Given the description of an element on the screen output the (x, y) to click on. 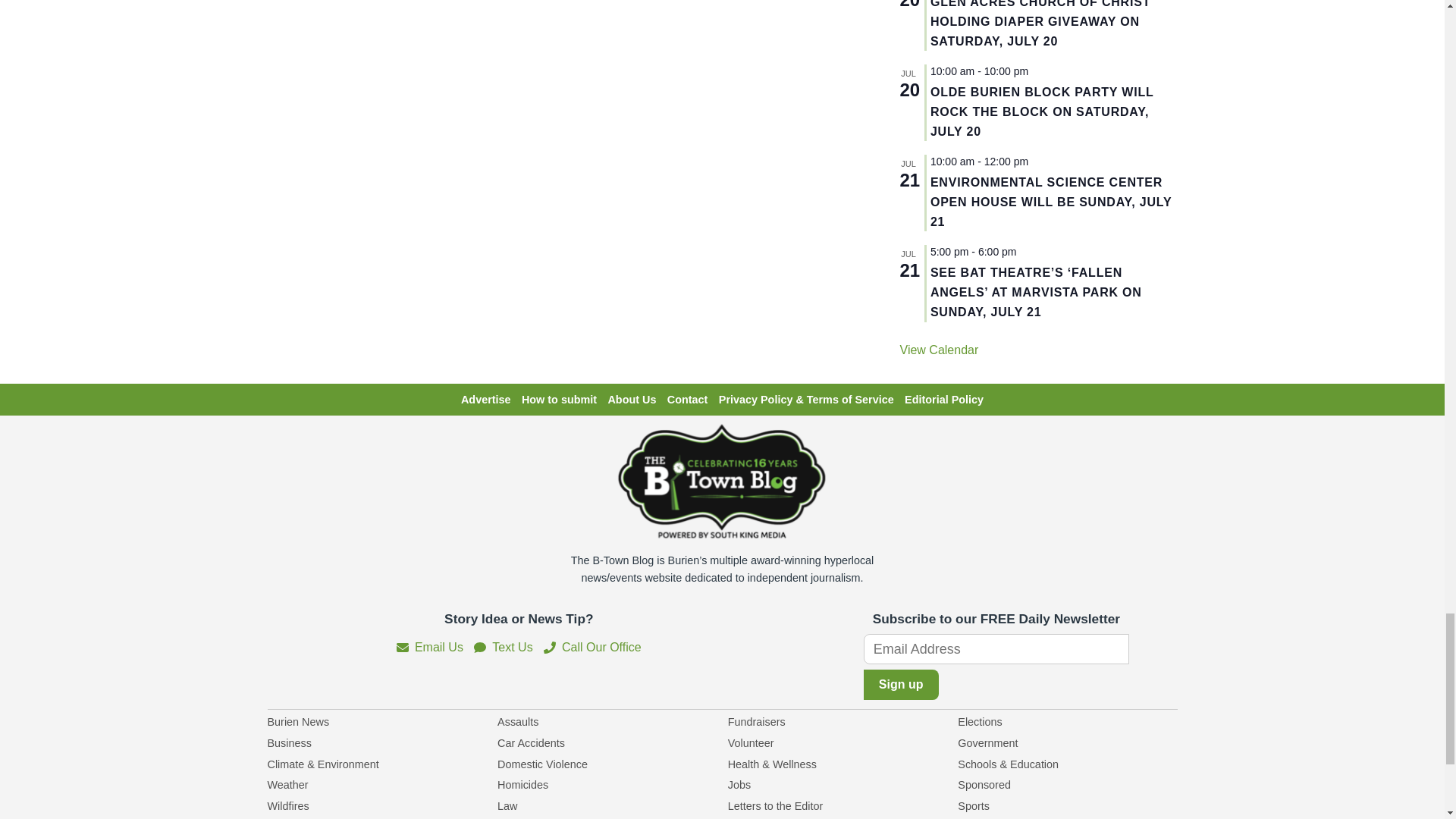
Sign up (901, 684)
